Given the description of an element on the screen output the (x, y) to click on. 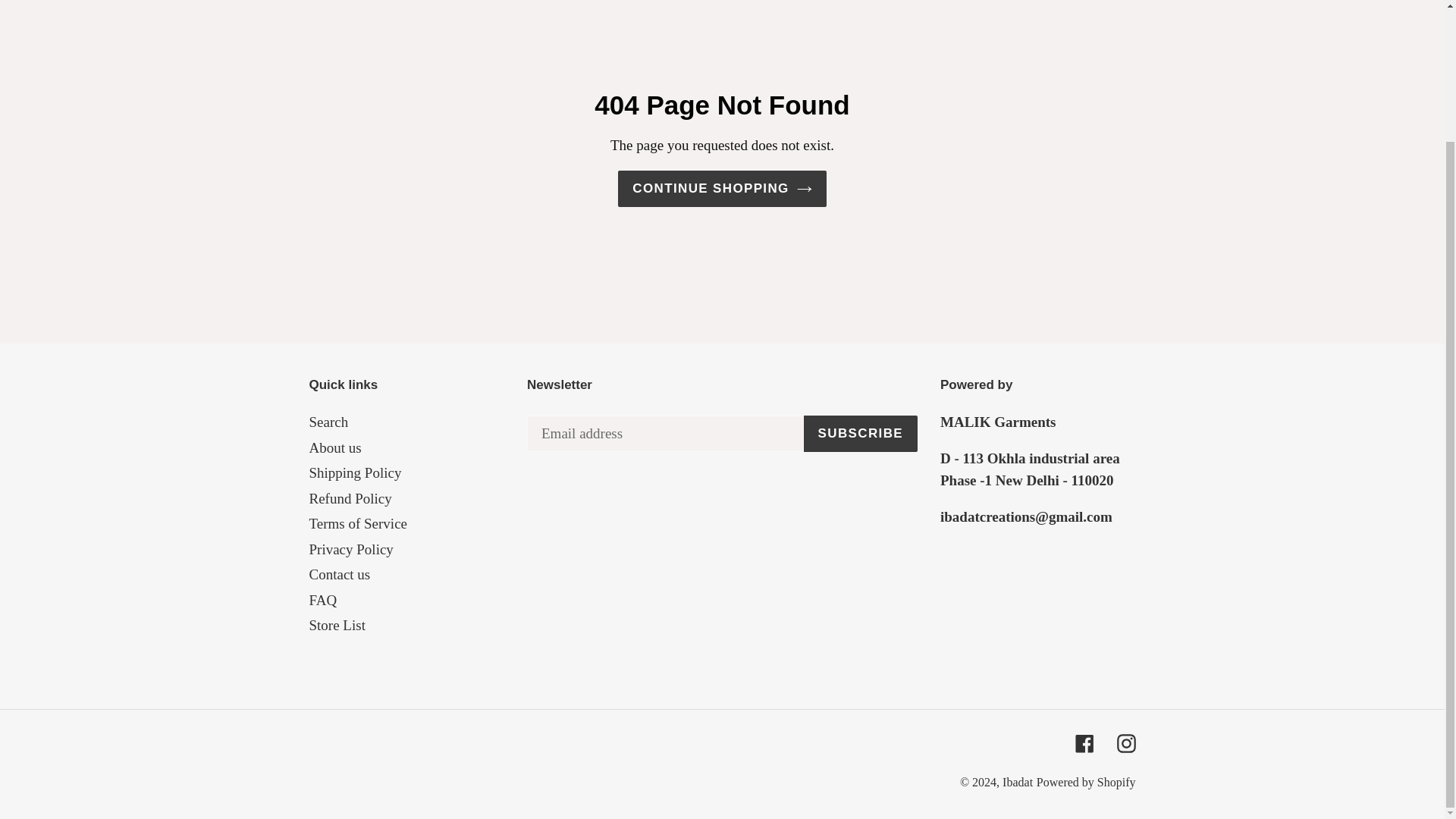
Shipping Policy (354, 472)
CONTINUE SHOPPING (721, 188)
About us (334, 447)
Terms of Service (357, 523)
Refund Policy (349, 498)
Powered by Shopify (1085, 781)
SUBSCRIBE (860, 433)
Search (328, 421)
Store List (336, 625)
Contact us (339, 574)
